Given the description of an element on the screen output the (x, y) to click on. 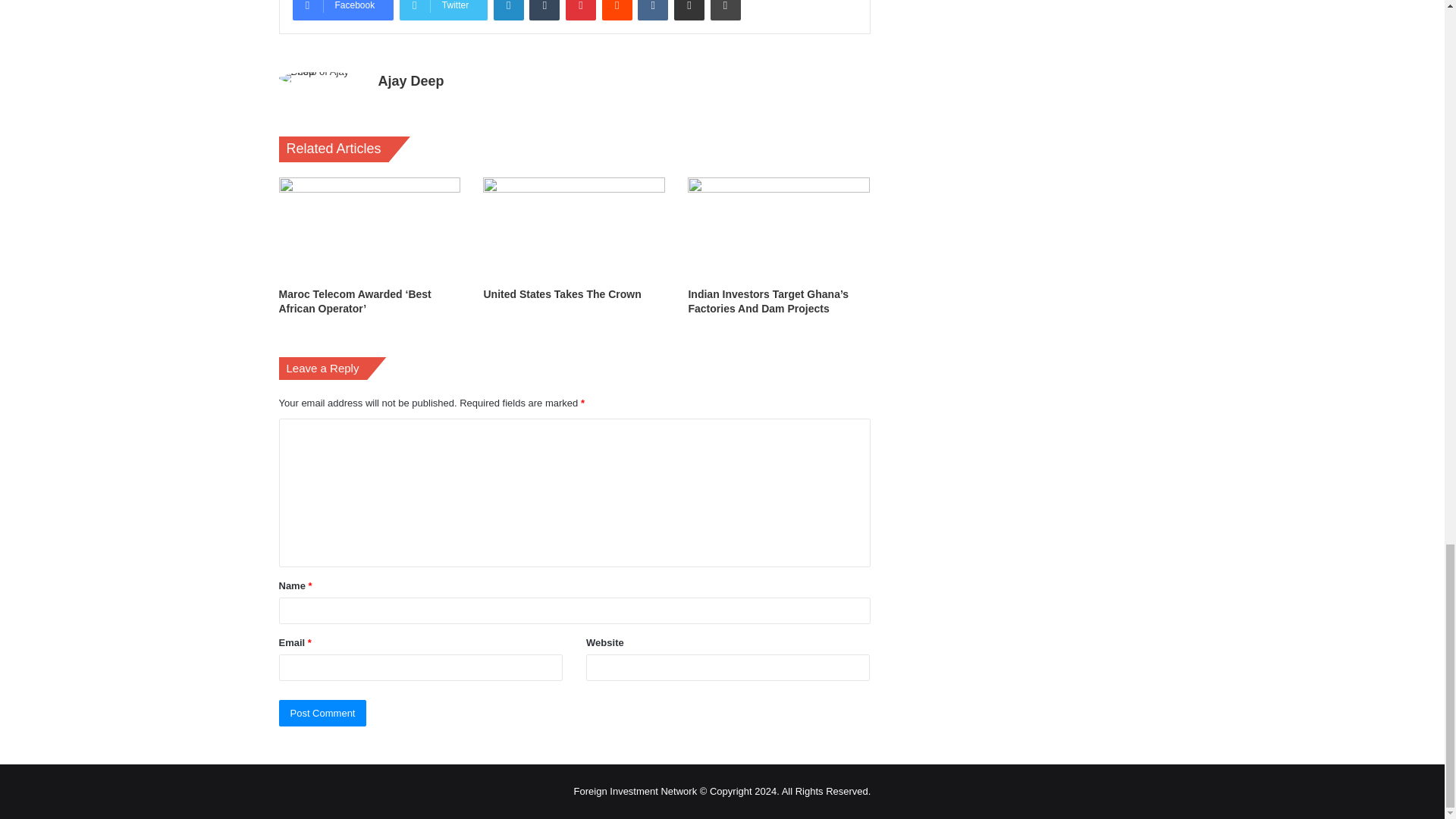
Facebook (343, 10)
Pinterest (580, 10)
Reddit (616, 10)
Print (725, 10)
Facebook (343, 10)
Twitter (442, 10)
Post Comment (322, 713)
Tumblr (544, 10)
Share via Email (689, 10)
Twitter (442, 10)
